Given the description of an element on the screen output the (x, y) to click on. 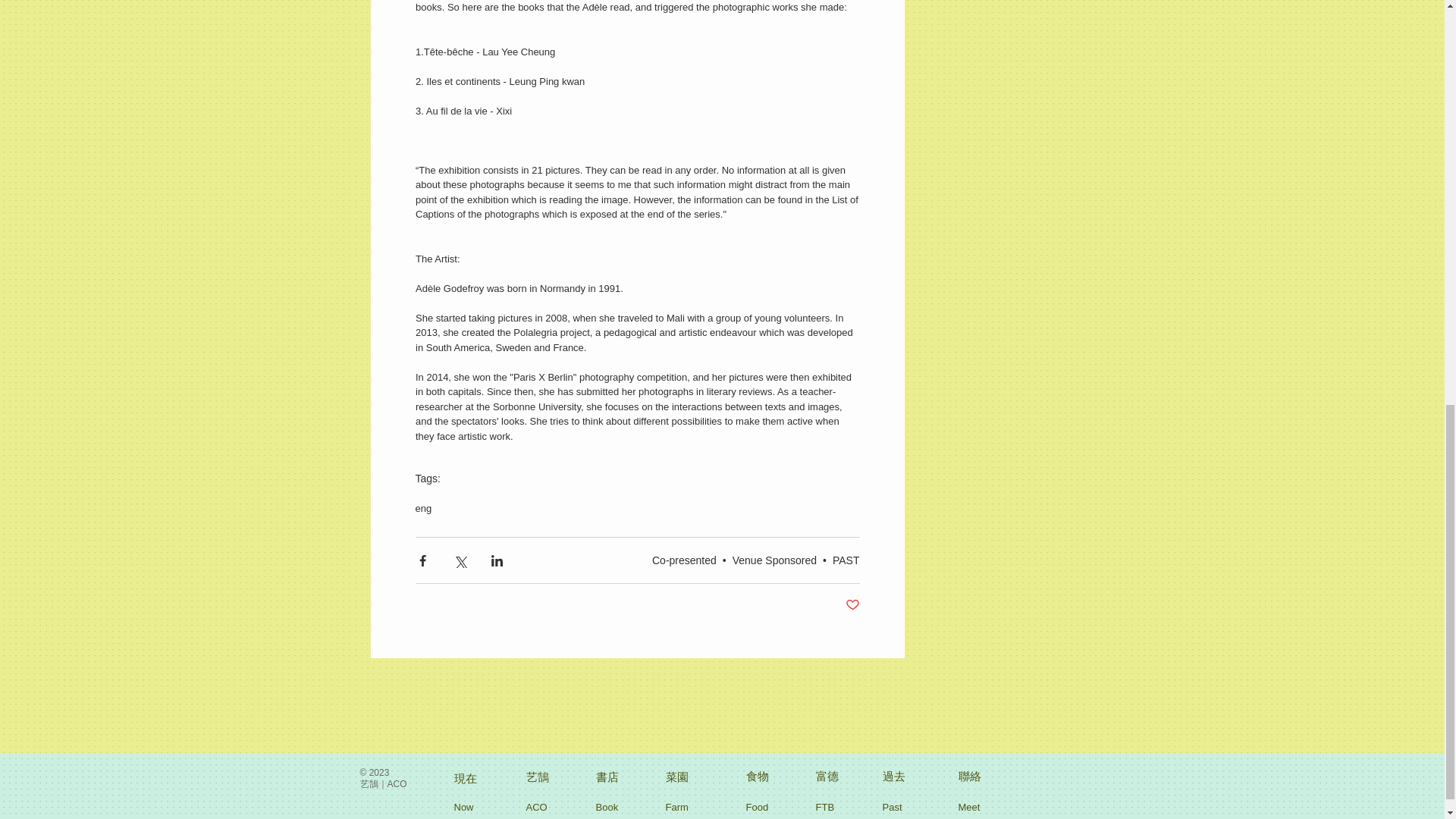
Farm (680, 807)
eng (423, 508)
Book (610, 807)
Now (465, 807)
Past (897, 807)
FTB (830, 807)
PAST (846, 560)
Meet (973, 807)
Post not marked as liked (851, 605)
ACO (538, 807)
